Given the description of an element on the screen output the (x, y) to click on. 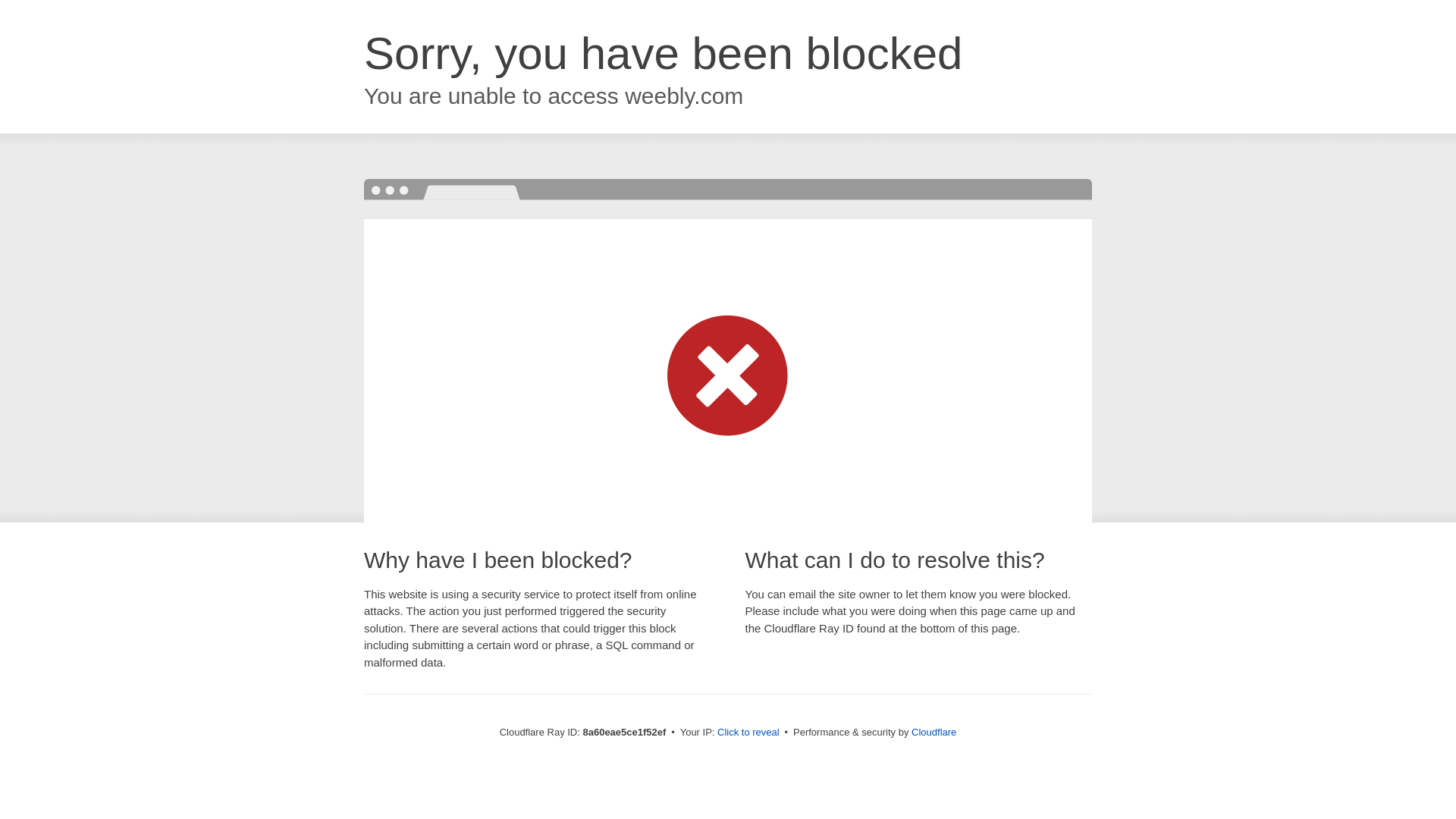
Click to reveal (747, 732)
Cloudflare (933, 731)
